Given the description of an element on the screen output the (x, y) to click on. 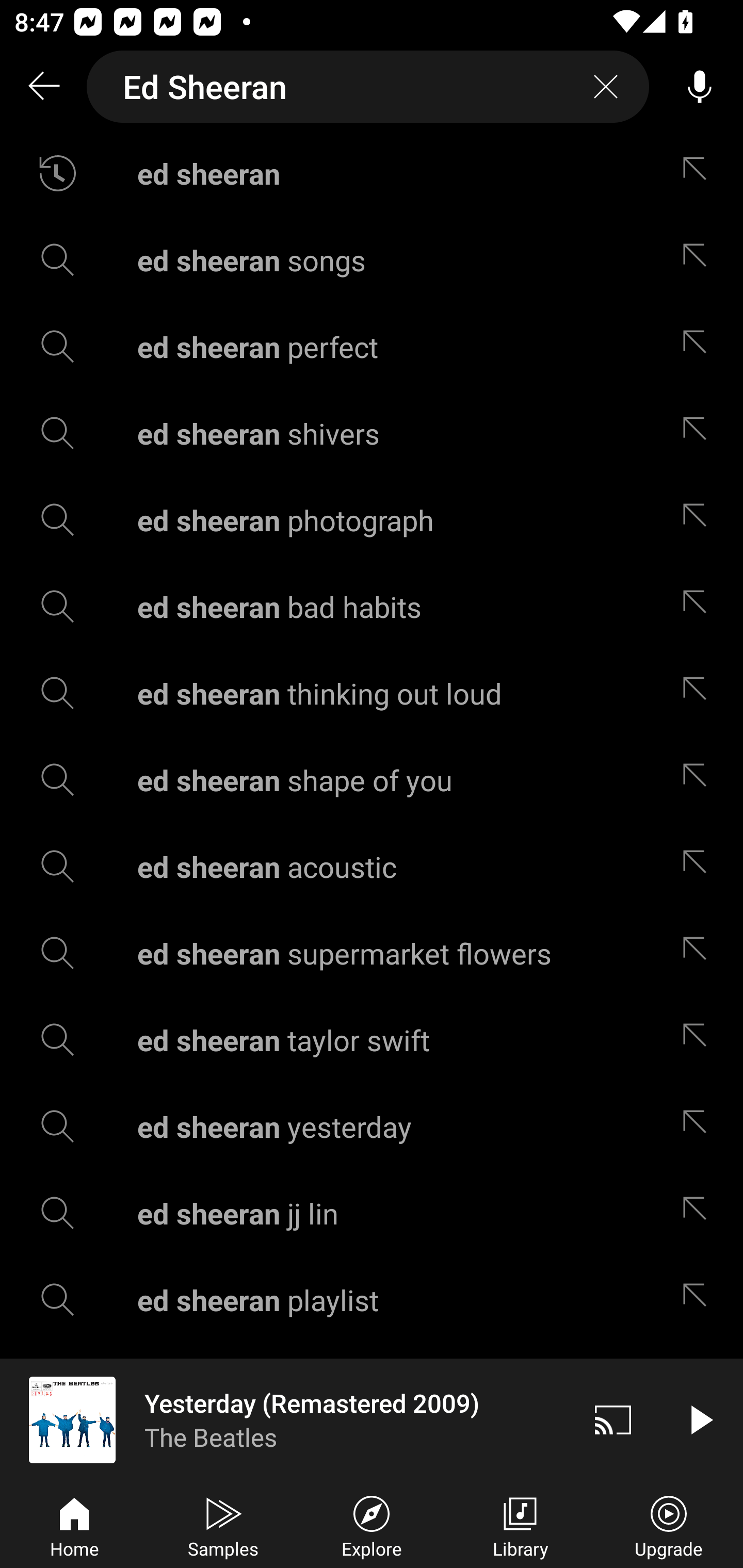
Search back (43, 86)
Ed Sheeran (367, 86)
Clear search (605, 86)
Voice search (699, 86)
ed sheeran Edit suggestion ed sheeran (371, 173)
Edit suggestion ed sheeran (699, 173)
ed sheeran songs Edit suggestion ed sheeran songs (371, 259)
Edit suggestion ed sheeran songs (699, 259)
Edit suggestion ed sheeran perfect (699, 346)
Edit suggestion ed sheeran shivers (699, 433)
Edit suggestion ed sheeran photograph (699, 519)
Edit suggestion ed sheeran bad habits (699, 605)
Edit suggestion ed sheeran thinking out loud (699, 692)
Edit suggestion ed sheeran shape of you (699, 779)
Edit suggestion ed sheeran acoustic (699, 866)
Edit suggestion ed sheeran supermarket flowers (699, 953)
Edit suggestion ed sheeran taylor swift (699, 1040)
Edit suggestion ed sheeran yesterday (699, 1126)
Edit suggestion ed sheeran jj lin (699, 1212)
Edit suggestion ed sheeran playlist (699, 1299)
Yesterday (Remastered 2009) The Beatles (284, 1419)
Cast. Disconnected (612, 1419)
Play video (699, 1419)
Home (74, 1524)
Samples (222, 1524)
Explore (371, 1524)
Library (519, 1524)
Upgrade (668, 1524)
